Given the description of an element on the screen output the (x, y) to click on. 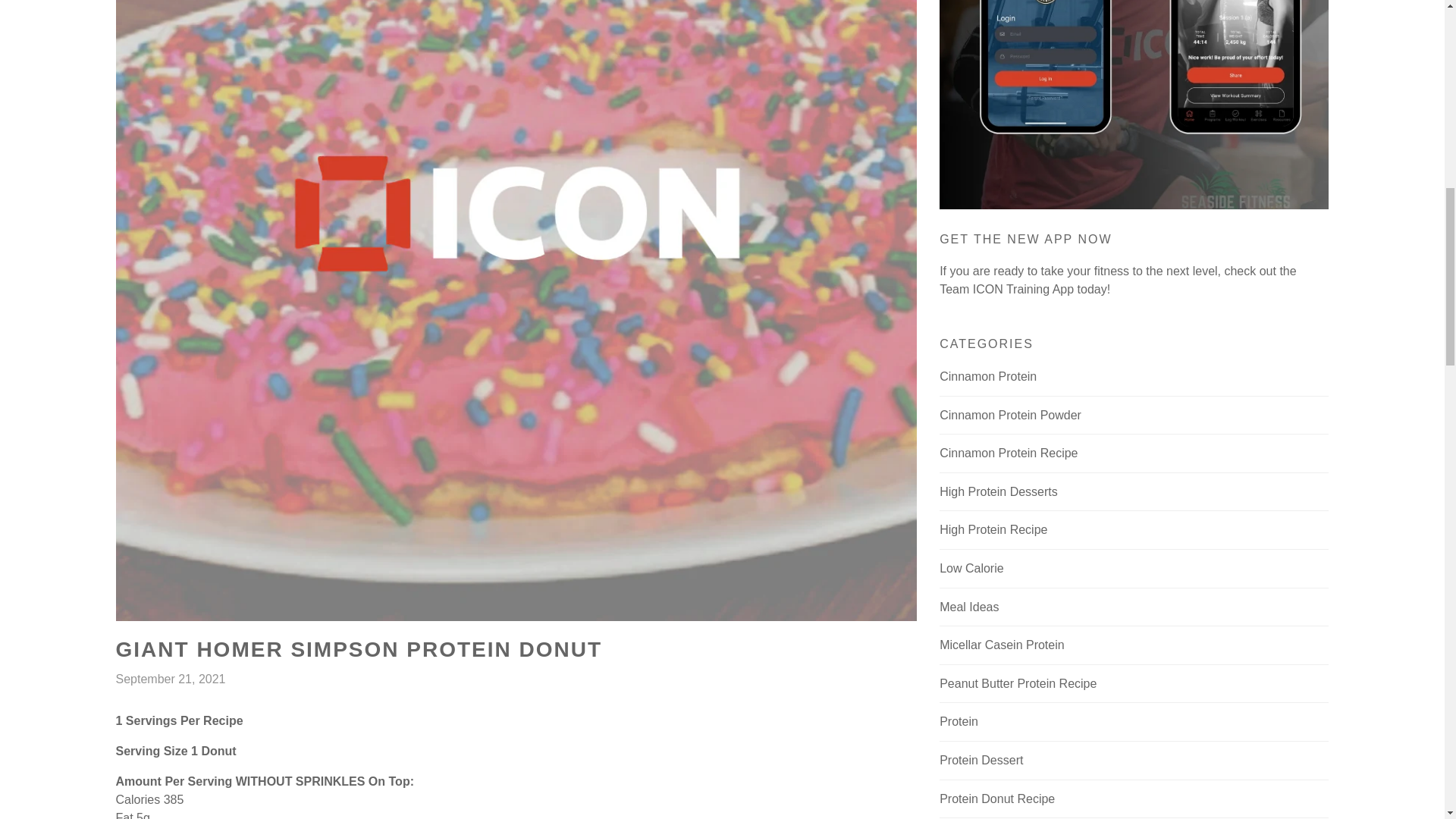
Show articles tagged Cinnamon Protein (1133, 376)
Show articles tagged Cinnamon Protein Recipe (1133, 453)
Show articles tagged Cinnamon Protein Powder (1133, 415)
